Given the description of an element on the screen output the (x, y) to click on. 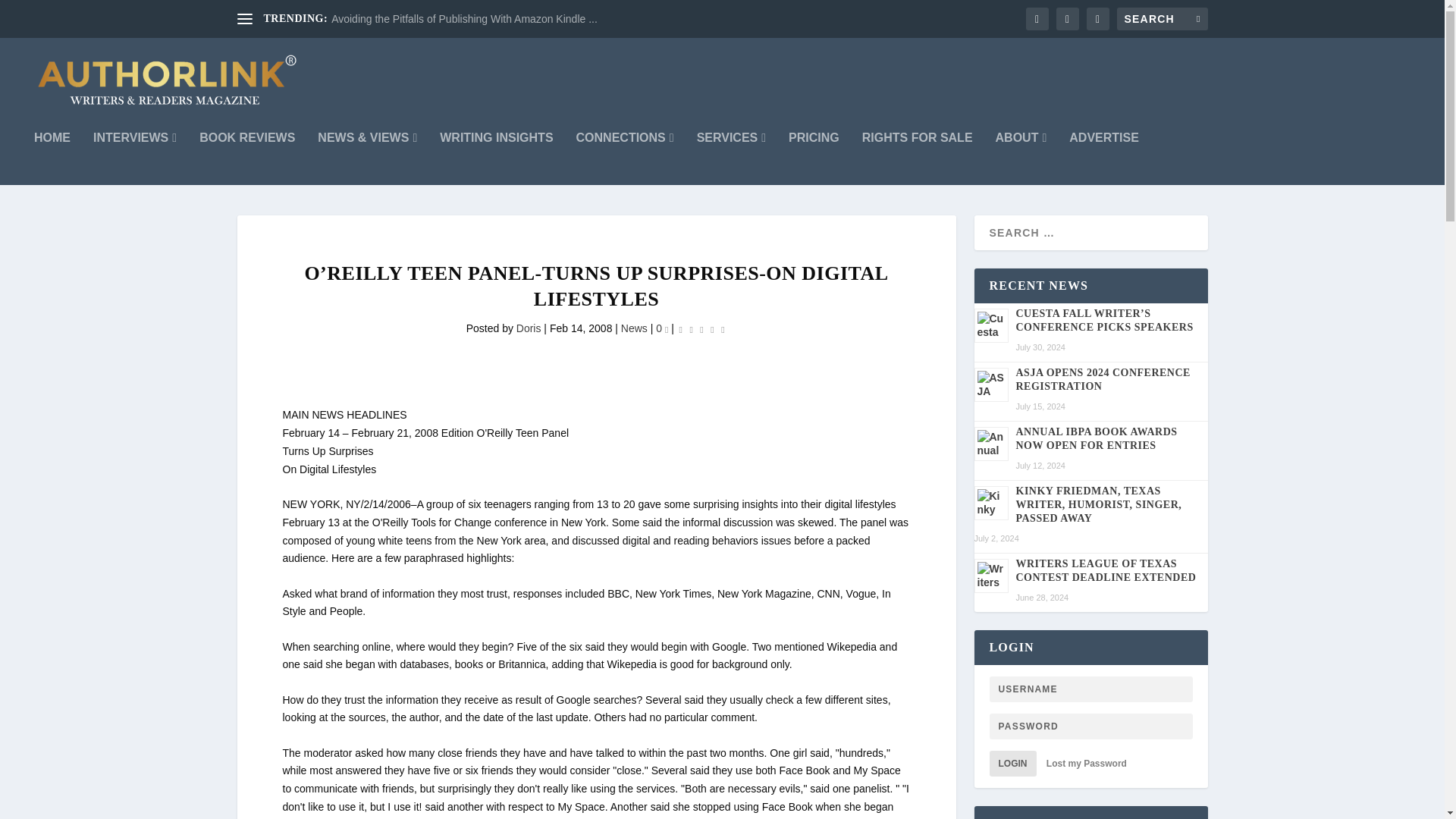
WRITING INSIGHTS (496, 158)
Search for: (1161, 18)
Avoiding the Pitfalls of Publishing With Amazon Kindle ... (463, 19)
RIGHTS FOR SALE (916, 158)
BOOK REVIEWS (247, 158)
Rating: 0.00 (701, 329)
CONNECTIONS (625, 158)
ABOUT (1020, 158)
SERVICES (731, 158)
PRICING (814, 158)
